Given the description of an element on the screen output the (x, y) to click on. 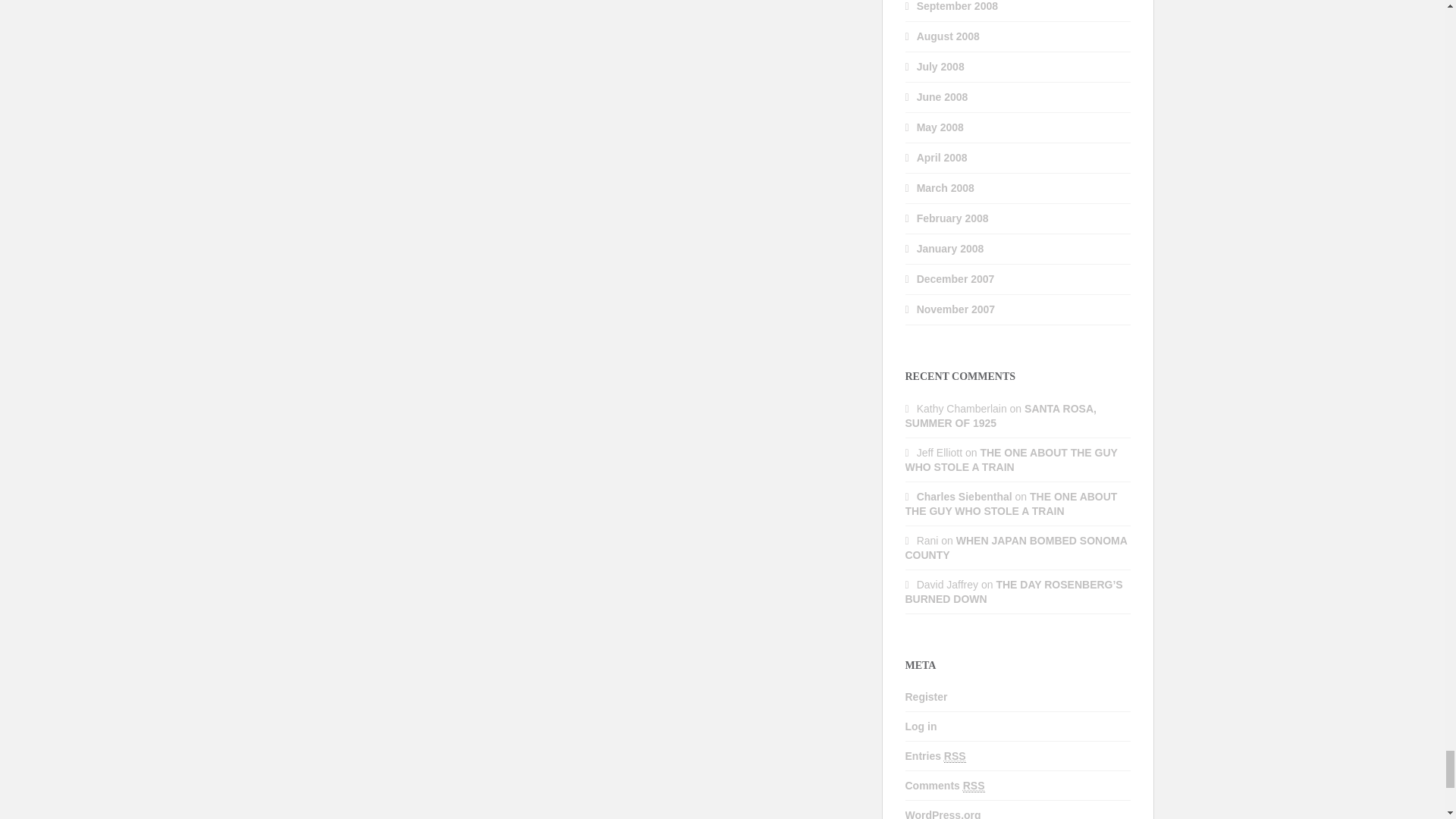
Really Simple Syndication (954, 756)
Really Simple Syndication (973, 785)
